Given the description of an element on the screen output the (x, y) to click on. 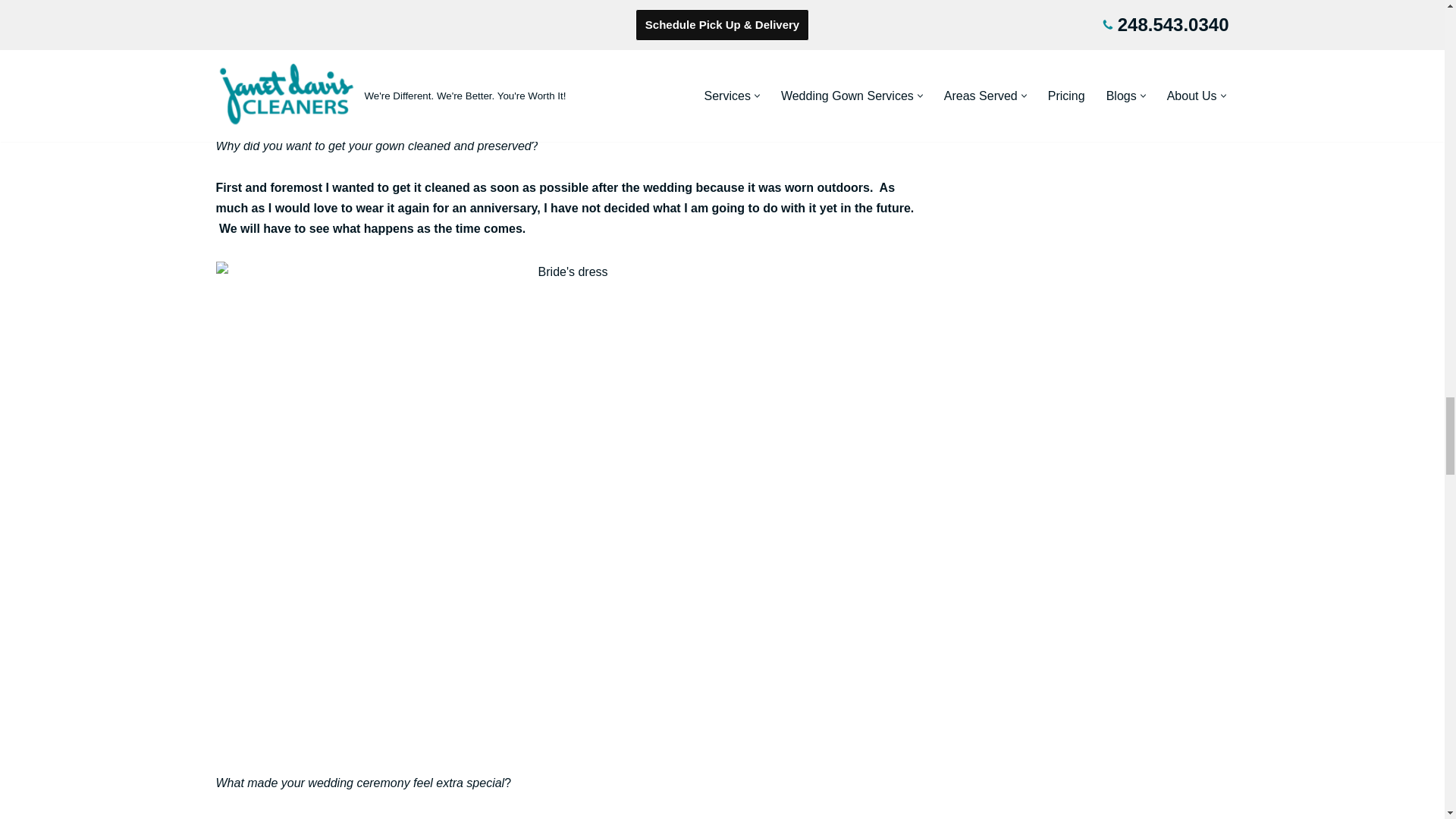
Bride and groom - Janet Davis Dry Cleaners (566, 46)
